Given the description of an element on the screen output the (x, y) to click on. 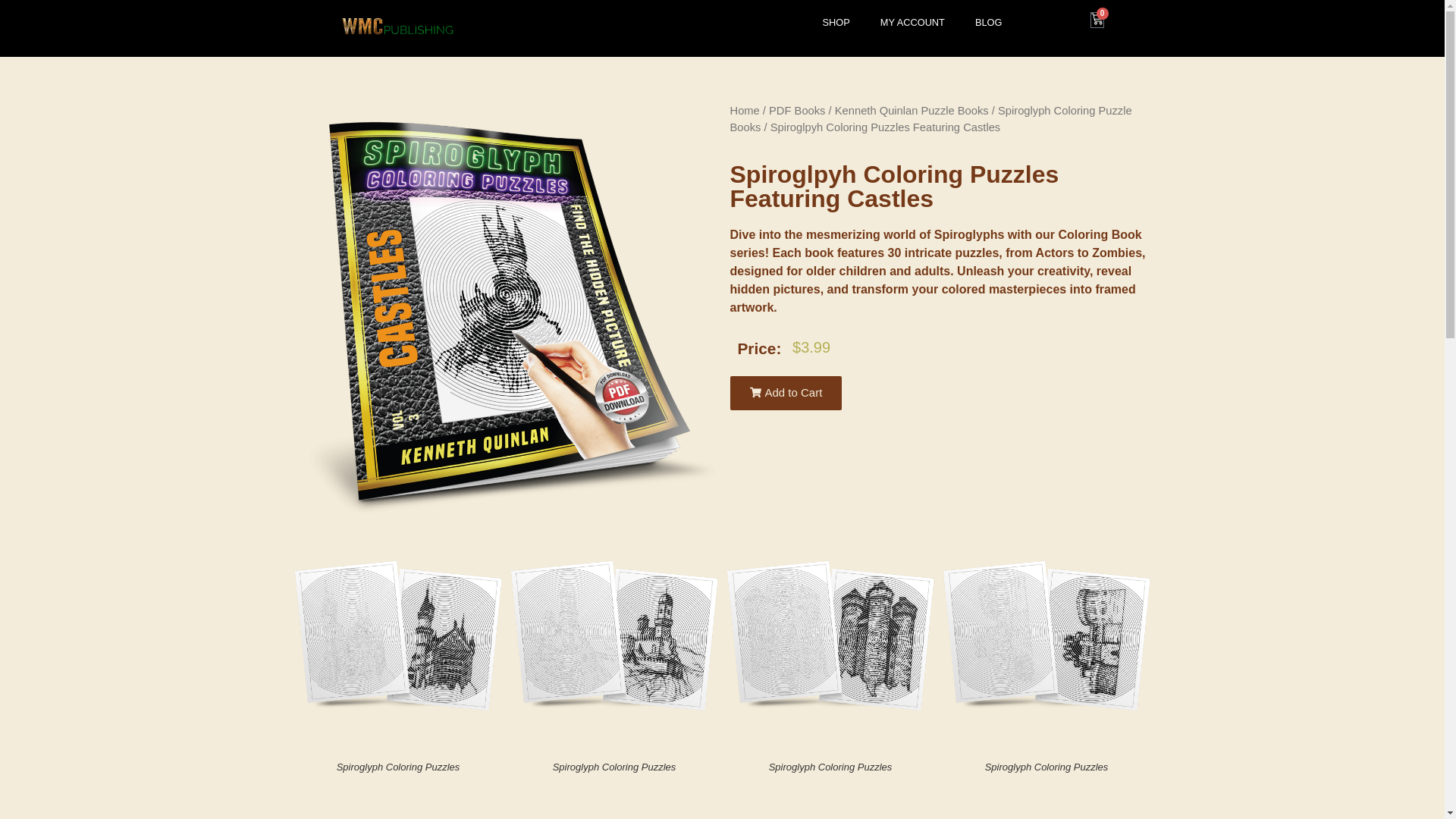
BLOG (988, 22)
PDF Books (796, 110)
MY ACCOUNT (911, 22)
Home (743, 110)
SHOP (836, 22)
Add to Cart (785, 392)
Spiroglyph Coloring Puzzle Books (930, 118)
Kenneth Quinlan Puzzle Books (911, 110)
